Given the description of an element on the screen output the (x, y) to click on. 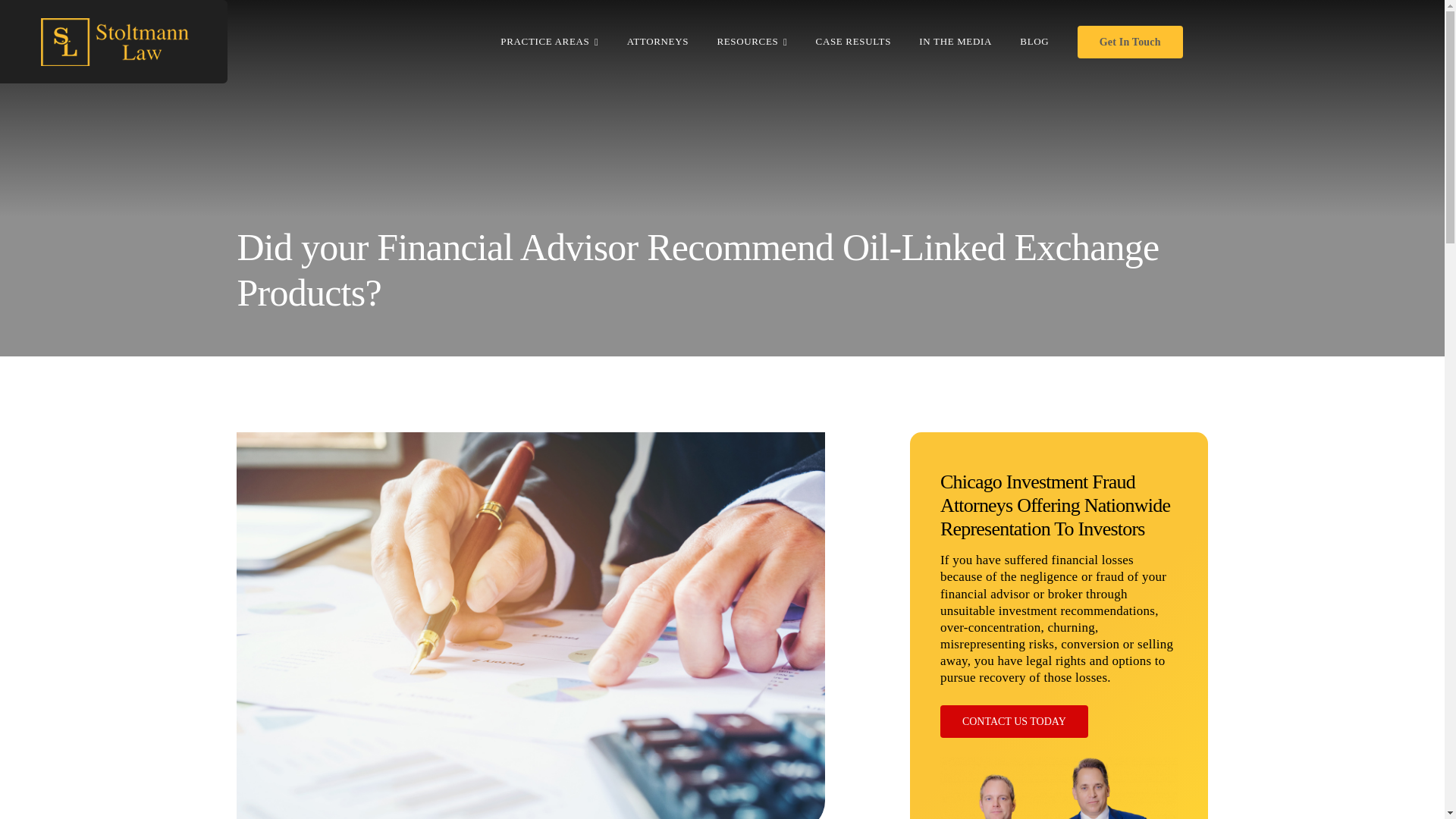
RESOURCES (751, 41)
IN THE MEDIA (954, 41)
PRACTICE AREAS (549, 41)
CASE RESULTS (853, 41)
Stoltmann Law Securities Investment Fraud Attorneys (1058, 787)
ATTORNEYS (657, 41)
BLOG (1034, 41)
Get In Touch (1129, 41)
